Given the description of an element on the screen output the (x, y) to click on. 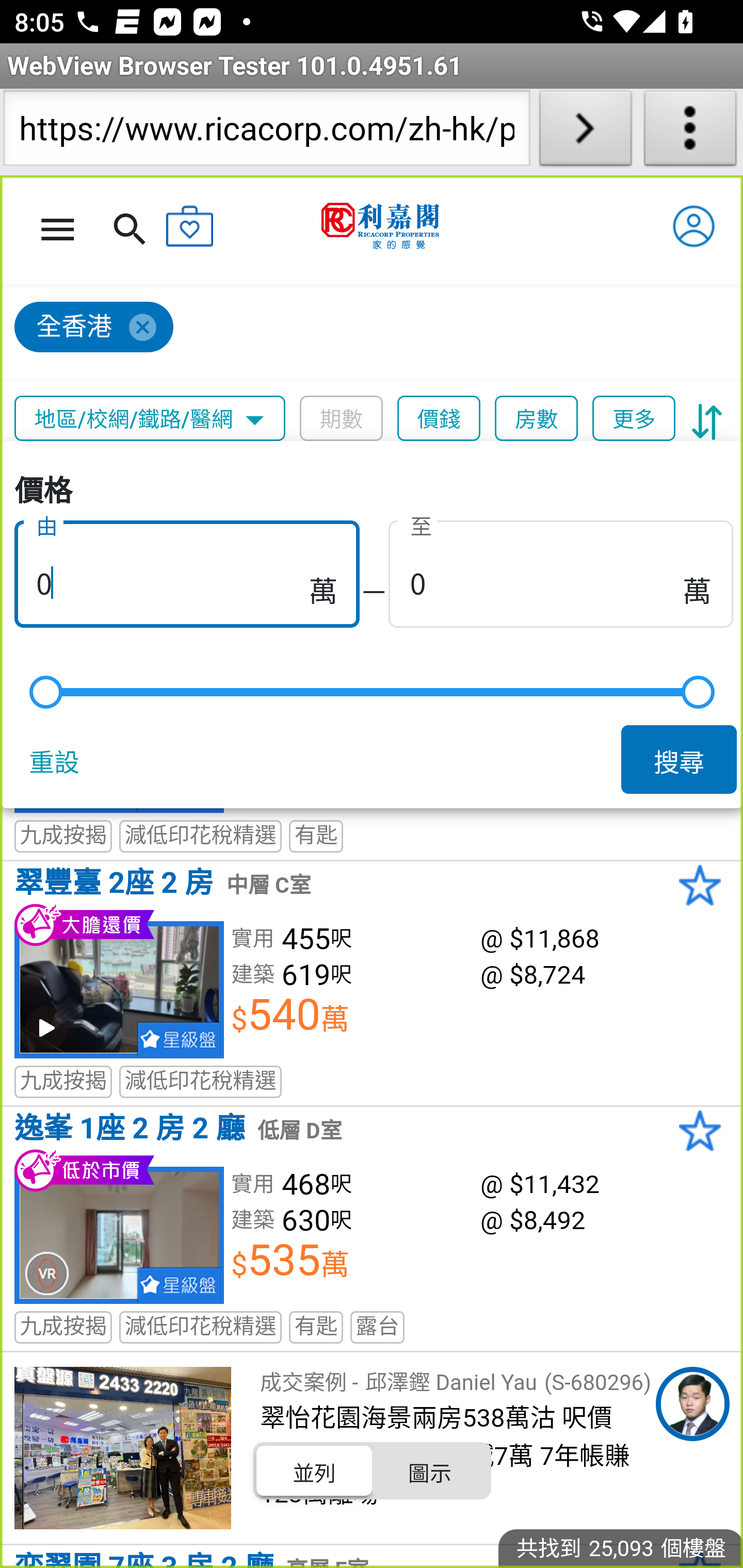
Load URL (585, 132)
About WebView (690, 132)
全香港 (94, 327)
地區/校網/鐵路/醫網 (150, 418)
期數 (341, 418)
價錢 (439, 418)
房數 (536, 418)
更多 (634, 418)
sort (706, 418)
最新八成按揭 (96, 478)
由 0, 由 萬 (187, 569)
至 0, 至 萬 (560, 569)
重設 (57, 759)
搜尋 (679, 759)
Daniel Yau (692, 1404)
並列 (314, 1470)
圖示 (429, 1470)
